Given the description of an element on the screen output the (x, y) to click on. 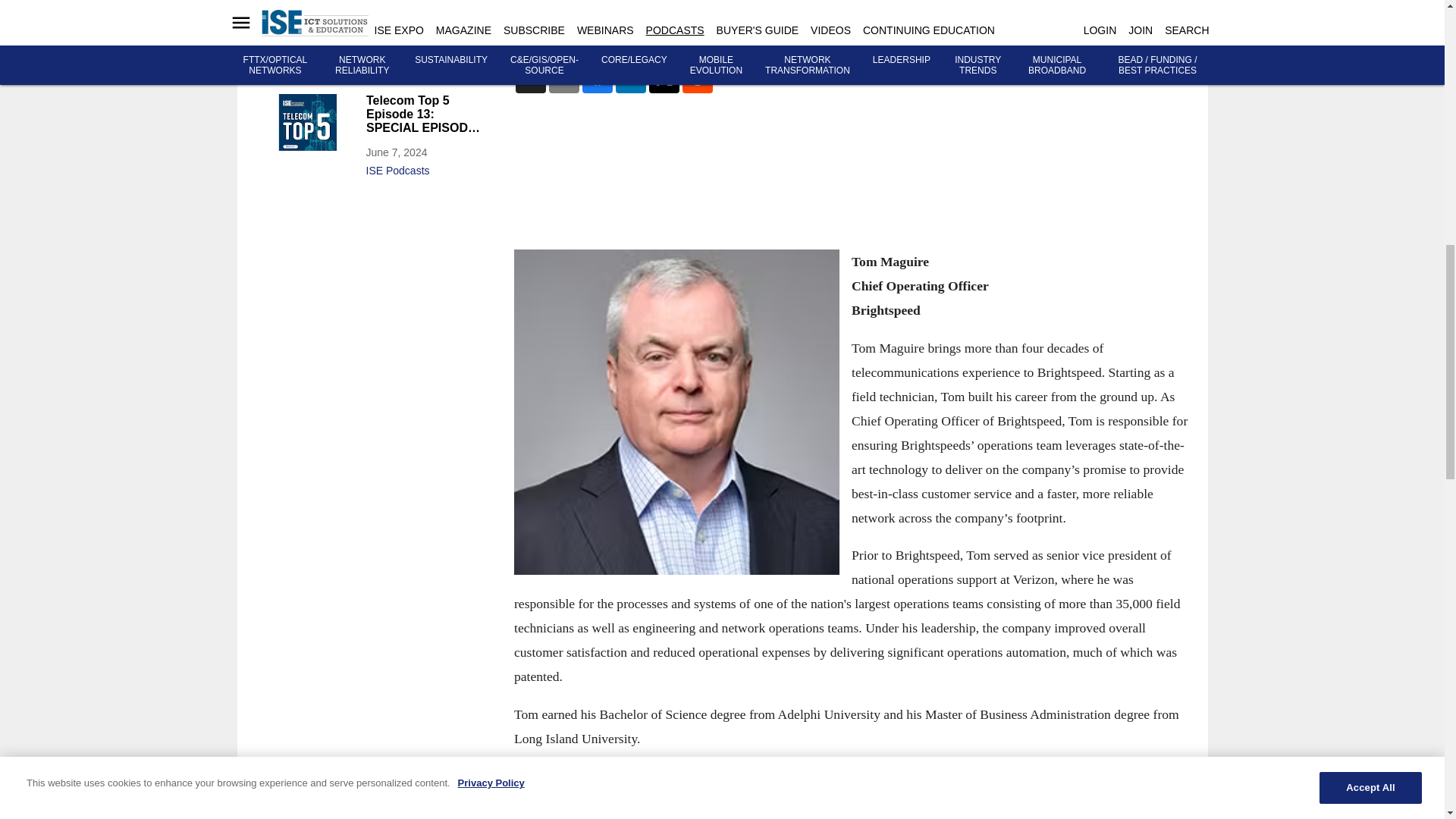
Brightspeed Logo 200x75 (676, 797)
Tom Maguire Headshot 250x250 (676, 411)
